Given the description of an element on the screen output the (x, y) to click on. 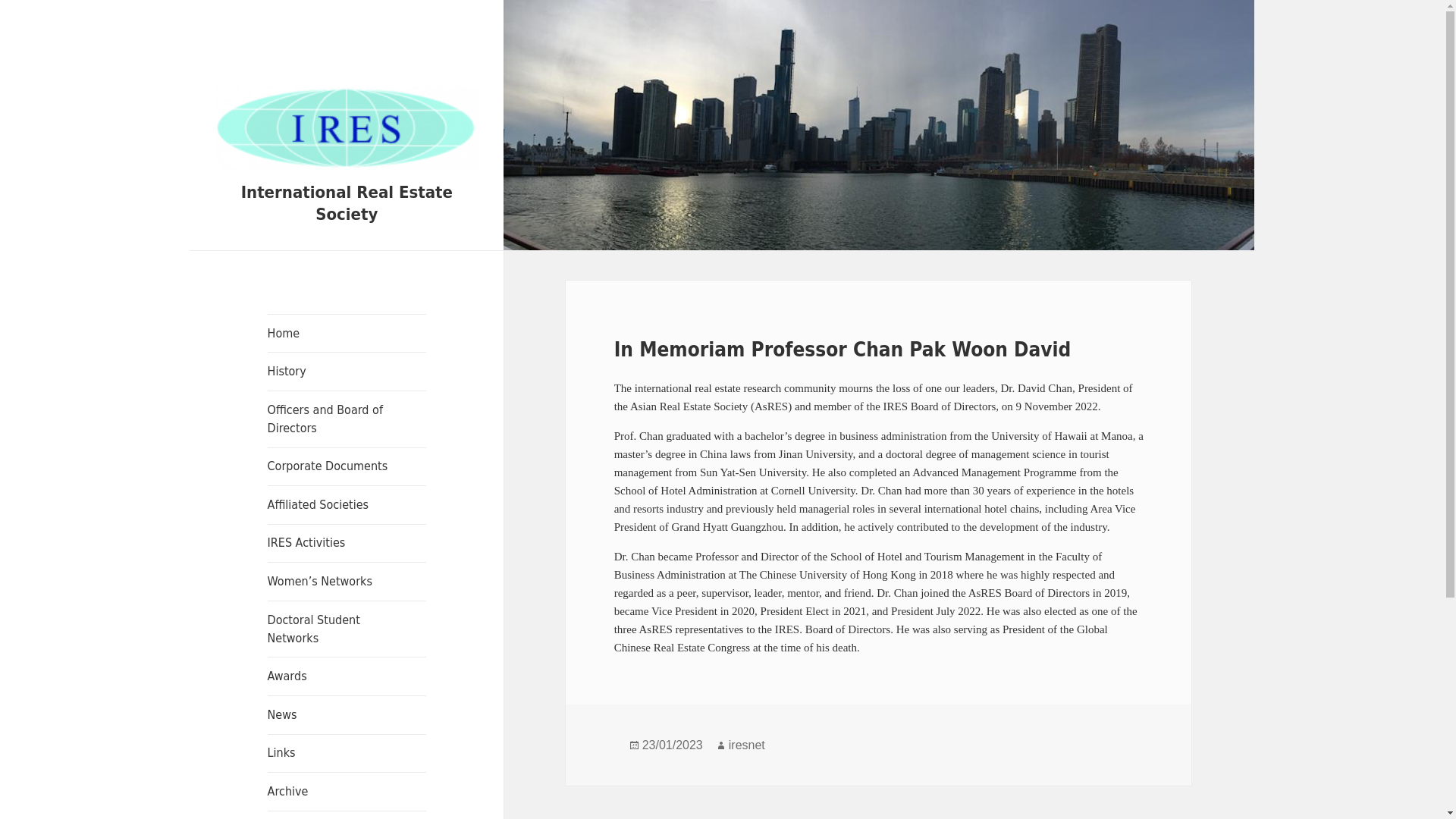
News (346, 714)
Doctoral Student Networks (346, 629)
Home (346, 333)
Links (346, 753)
International Real Estate Society (346, 202)
Corporate Documents (346, 466)
IRES Activities (346, 543)
Officers and Board of Directors (346, 419)
History (346, 371)
Awards (346, 676)
